Given the description of an element on the screen output the (x, y) to click on. 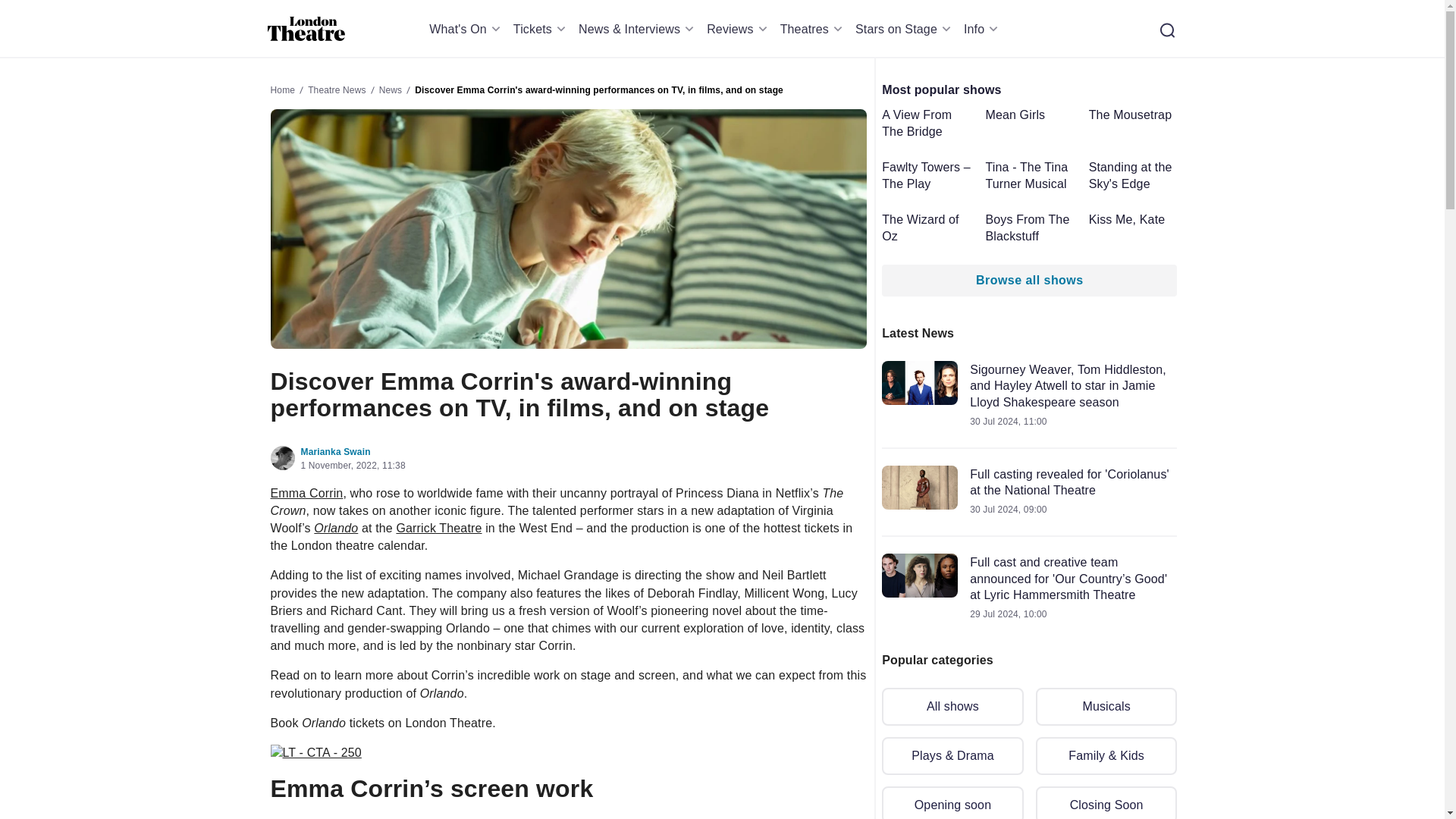
Tickets (541, 28)
Read more about Boys From The Blackstuff (1029, 227)
Read more about The Mousetrap (1133, 115)
Read more about Tina - The Tina Turner Musical (1029, 174)
Home (305, 28)
Reviews (739, 28)
Read more about The Wizard of Oz (926, 227)
Read more about A View From The Bridge (926, 123)
What's On (467, 28)
Read more about Mean Girls (1029, 115)
Read more about Kiss Me, Kate (1133, 219)
Read more about Standing at the Sky's Edge  (1133, 174)
